Given the description of an element on the screen output the (x, y) to click on. 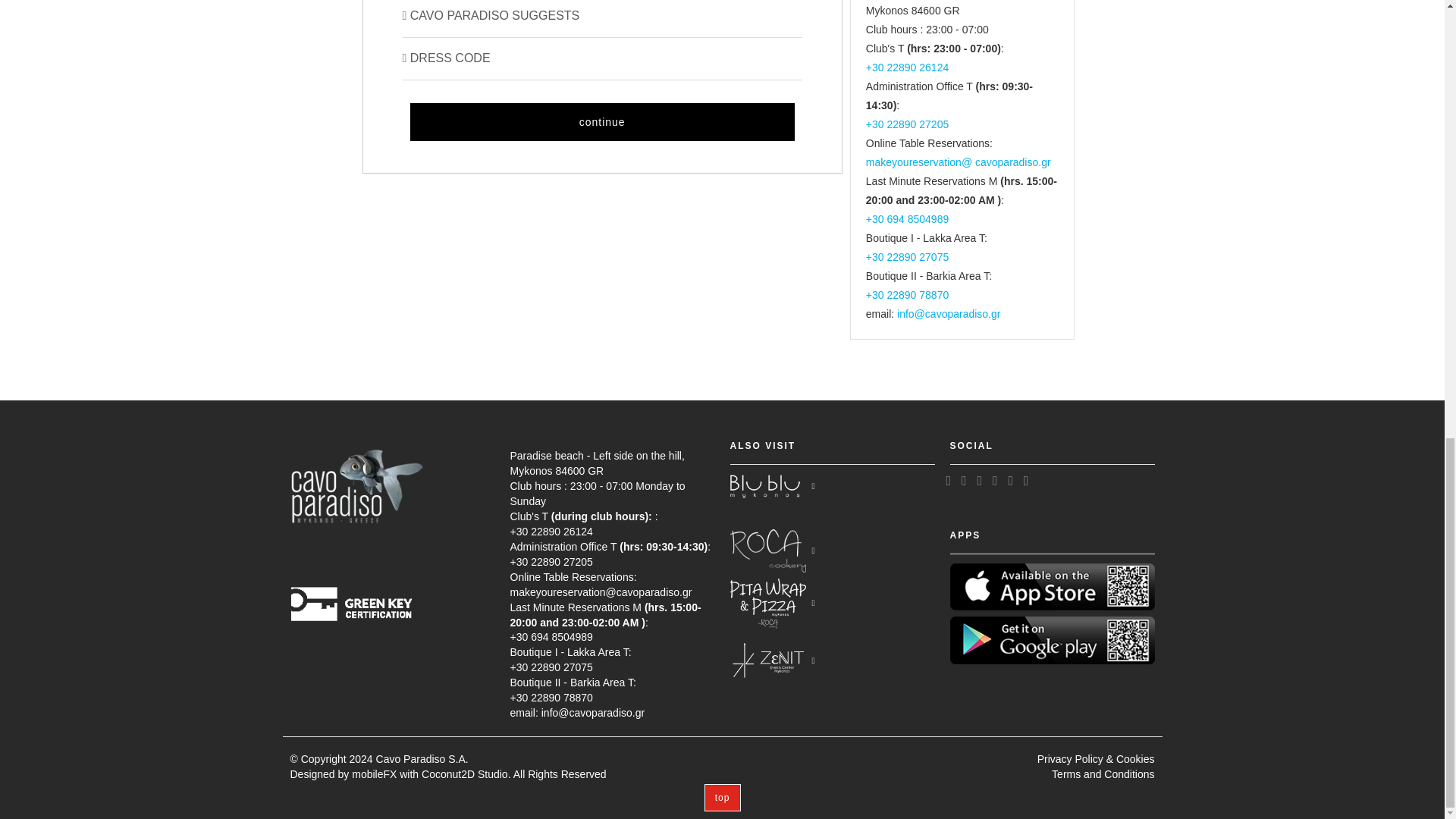
download cavo paradiso's green key certificate (356, 585)
call the club (907, 67)
call the administration office (907, 123)
send an email to info (948, 313)
send email to make a table reservation (958, 162)
call boutique at Lakka area (907, 256)
call for last minute table reservations (907, 218)
call boutique at Barkia (907, 295)
Continue (601, 121)
